Given the description of an element on the screen output the (x, y) to click on. 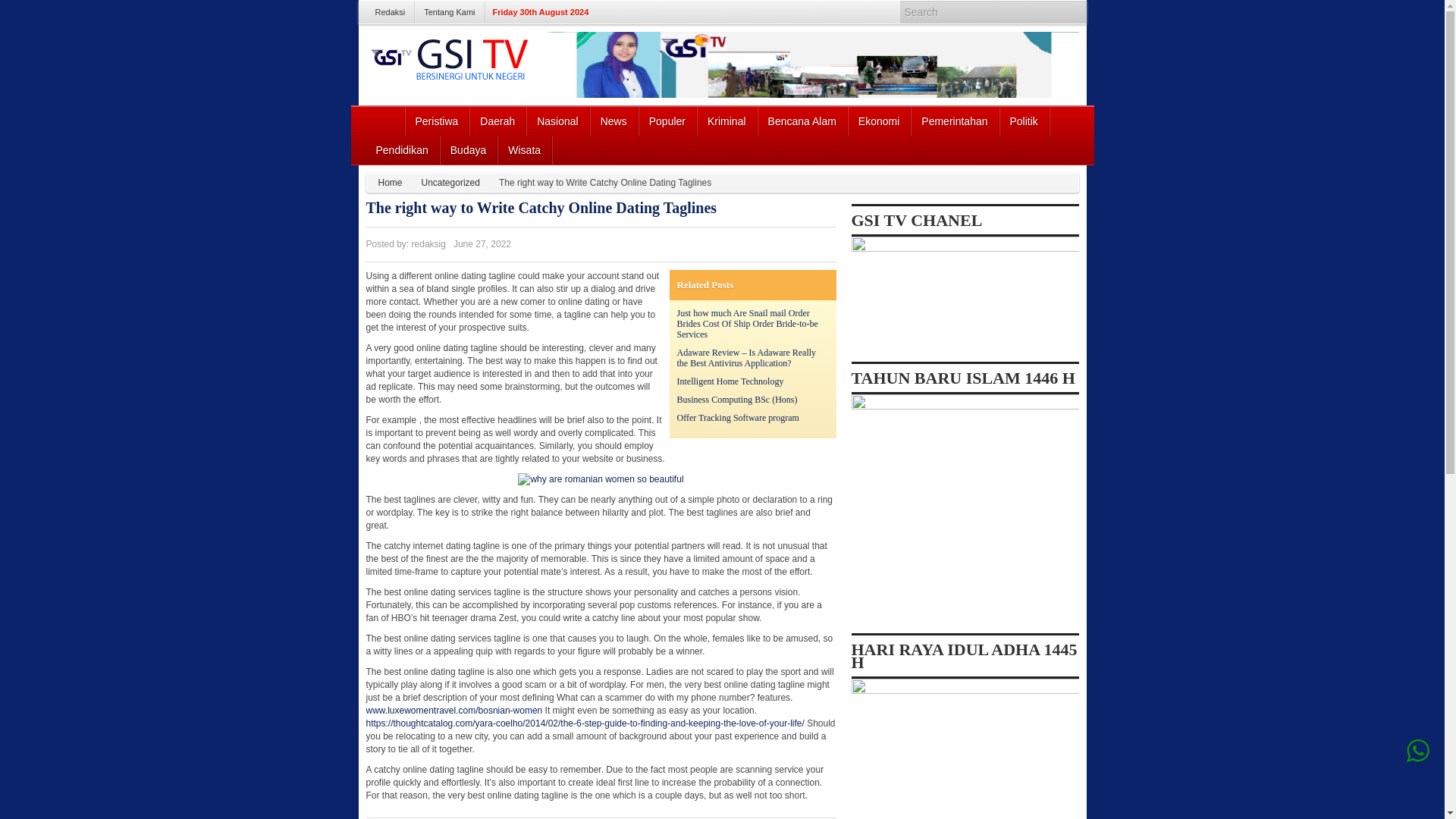
Kriminal (727, 121)
Politik (1023, 121)
Search (1070, 11)
Go to Intelligent Home Technology (730, 380)
News (614, 121)
Daerah (496, 121)
Populer (668, 121)
Intelligent Home Technology (730, 380)
The right way to Write Catchy Online Dating Taglines (540, 207)
Peristiwa (437, 121)
